Given the description of an element on the screen output the (x, y) to click on. 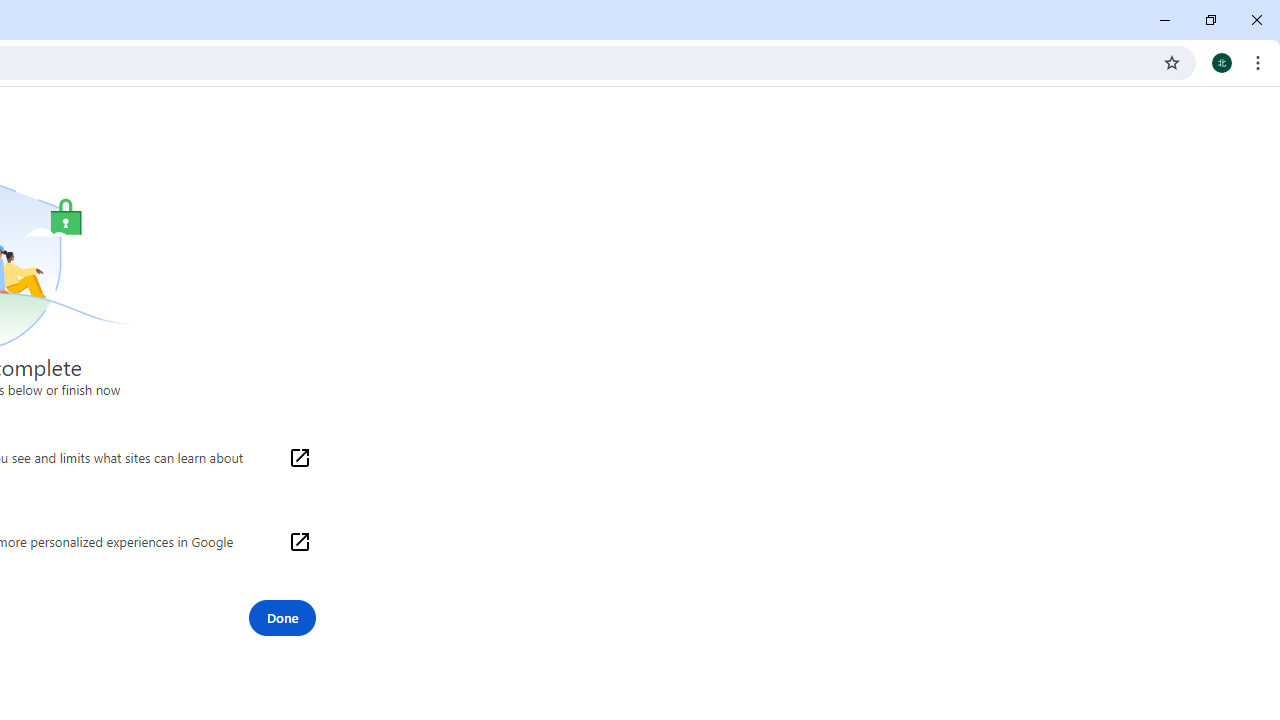
Chrome (1260, 62)
Done (282, 618)
Bookmark this tab (1171, 62)
Minimize (1165, 20)
Restore (1210, 20)
